Given the description of an element on the screen output the (x, y) to click on. 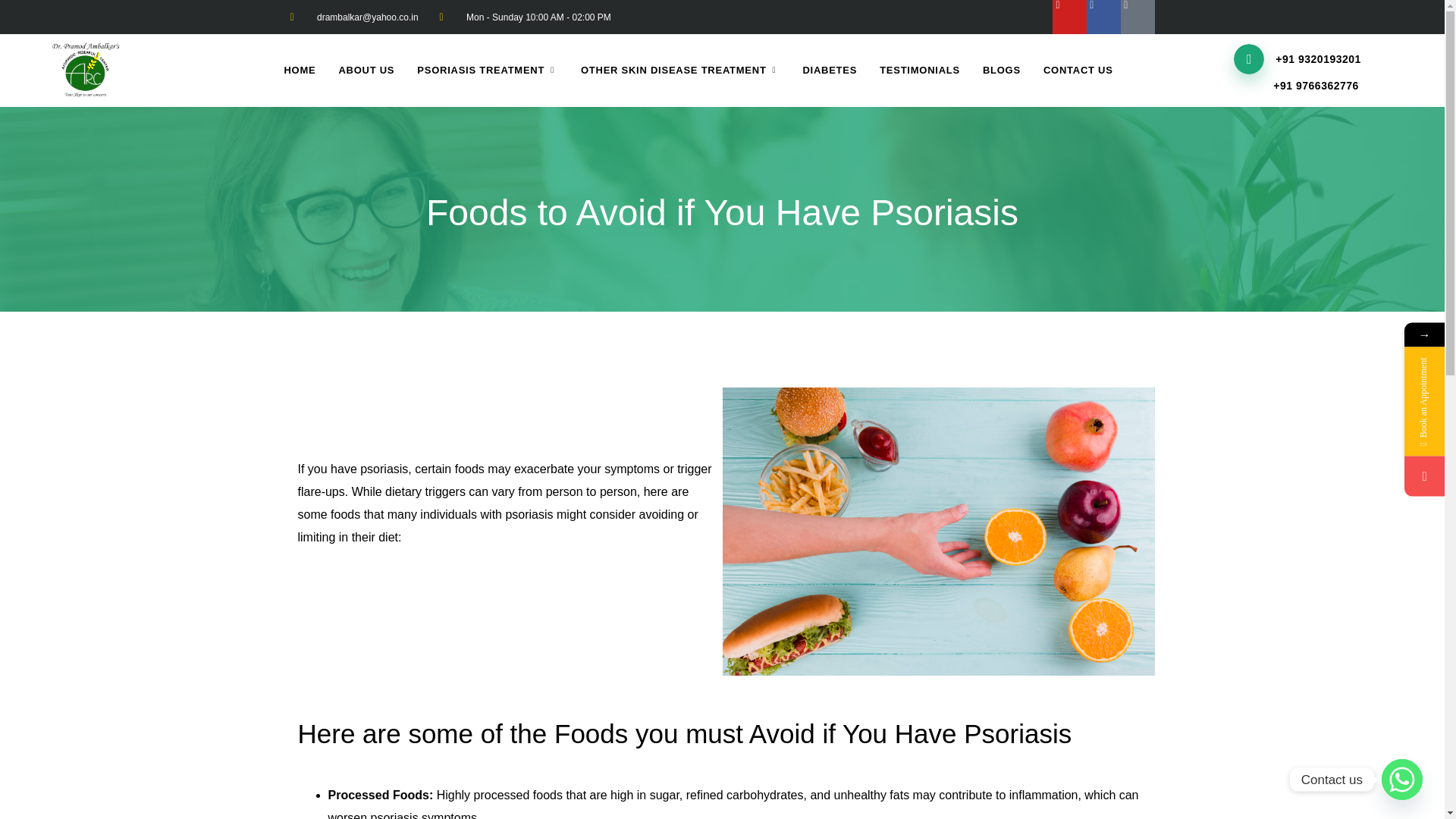
ABOUT US (366, 70)
DIABETES (828, 70)
OTHER SKIN DISEASE TREATMENT (679, 70)
BLOGS (1001, 70)
PSORIASIS TREATMENT (487, 70)
HOME (299, 70)
TESTIMONIALS (919, 70)
CONTACT US (1078, 70)
psoriasis (530, 513)
